Given the description of an element on the screen output the (x, y) to click on. 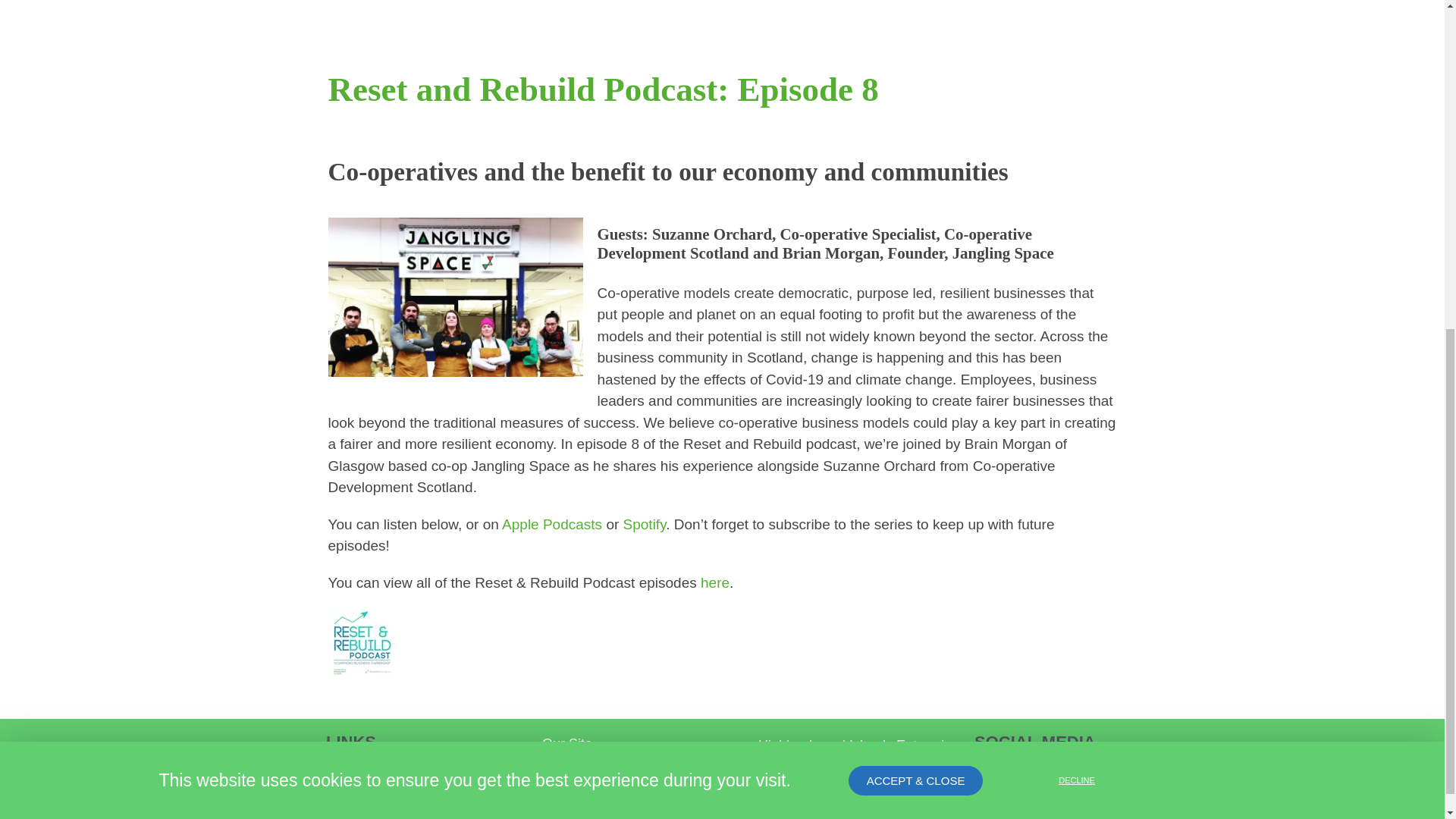
Apple Podcasts (552, 524)
Libsyn Player (721, 643)
Scottish Enterprise (641, 764)
Spotify (644, 524)
Our Site (641, 743)
here (714, 581)
